Given the description of an element on the screen output the (x, y) to click on. 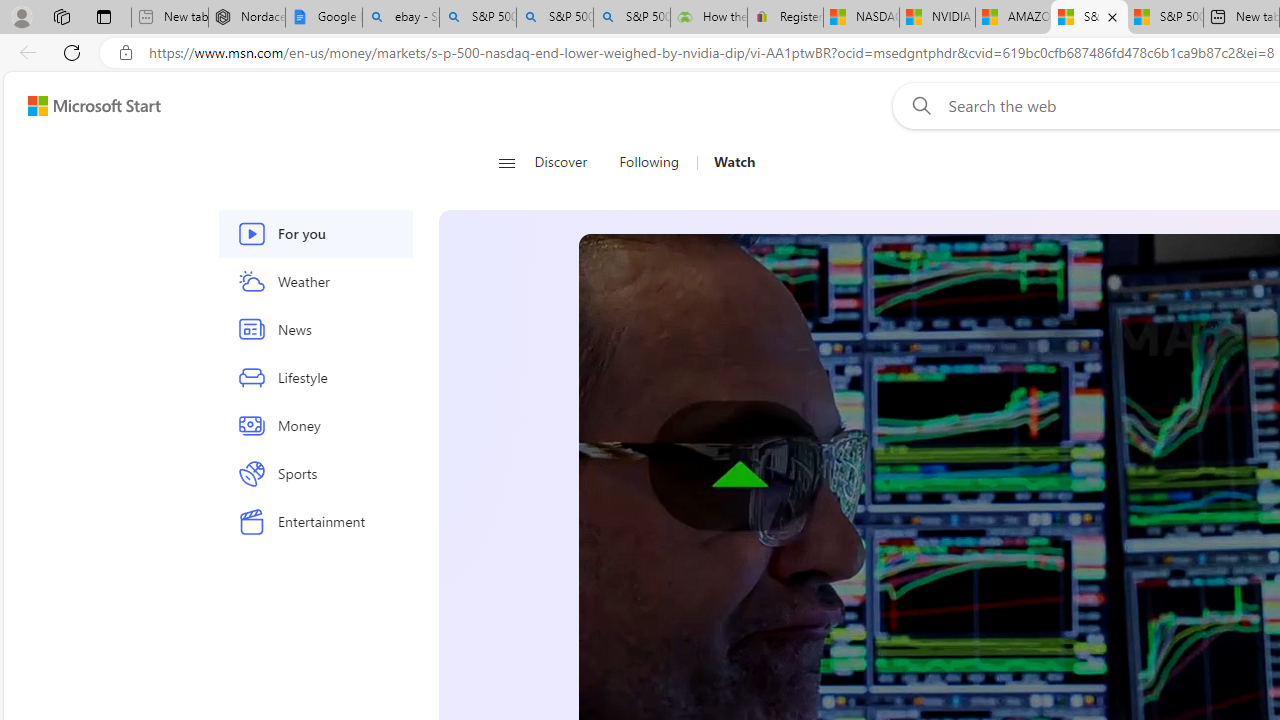
Discover (560, 162)
Open navigation menu (506, 162)
Back (24, 52)
S&P 500 index financial crisis decline - Search (631, 17)
Microsoft Start (94, 105)
View site information (125, 53)
Google Docs: Online Document Editor | Google Workspace (323, 17)
ebay - Search (401, 17)
S&P 500 - Search (554, 17)
Skip to content (86, 105)
Skip to footer (82, 105)
Register: Create a personal eBay account (785, 17)
